Given the description of an element on the screen output the (x, y) to click on. 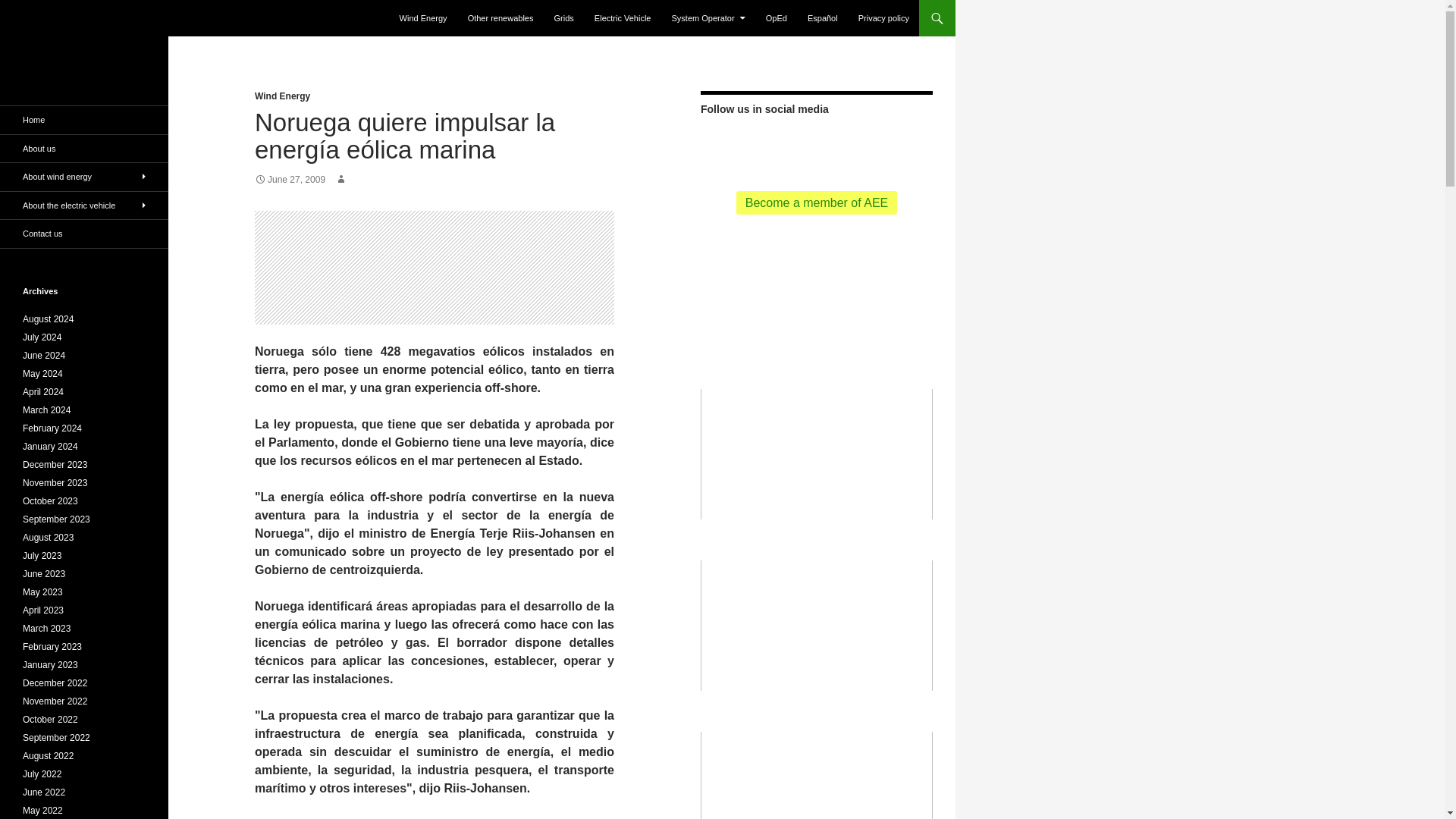
June 27, 2009 (289, 179)
youtube (843, 144)
RSS (761, 145)
flickr (871, 144)
OpEd (776, 18)
Electric Vehicle (623, 18)
System Operator (708, 18)
twitter (789, 145)
Become a member of AEE (817, 202)
Privacy policy (883, 18)
Wind Energy (423, 18)
RSS (762, 144)
facebook (816, 145)
twitter (789, 144)
youtube (843, 145)
